Given the description of an element on the screen output the (x, y) to click on. 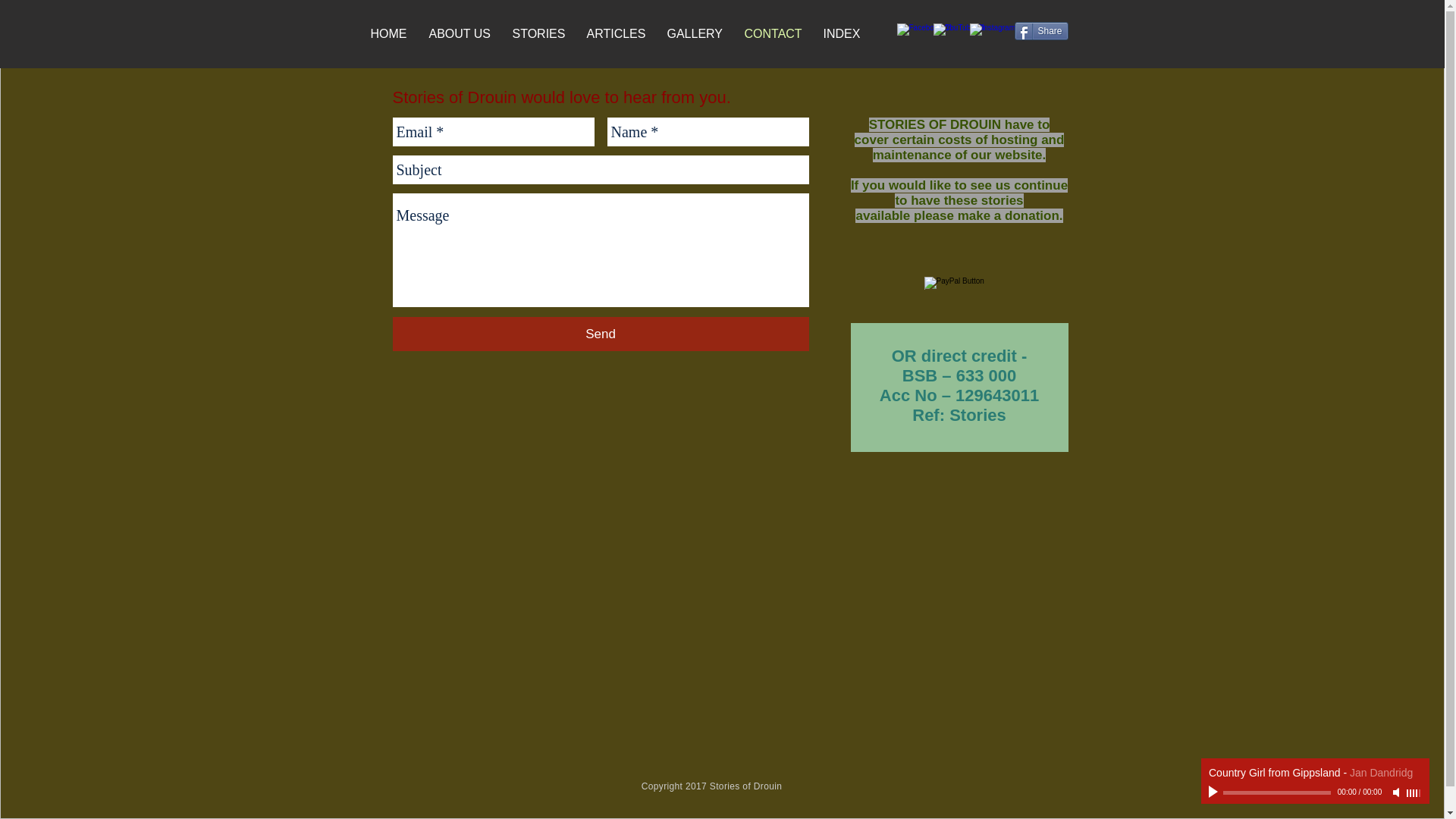
ABOUT US (463, 33)
INDEX (845, 33)
HOME (391, 33)
GALLERY (697, 33)
Send (601, 333)
STORIES (542, 33)
Share (1041, 31)
0 (1276, 792)
CONTACT (775, 33)
Share (1041, 31)
